Given the description of an element on the screen output the (x, y) to click on. 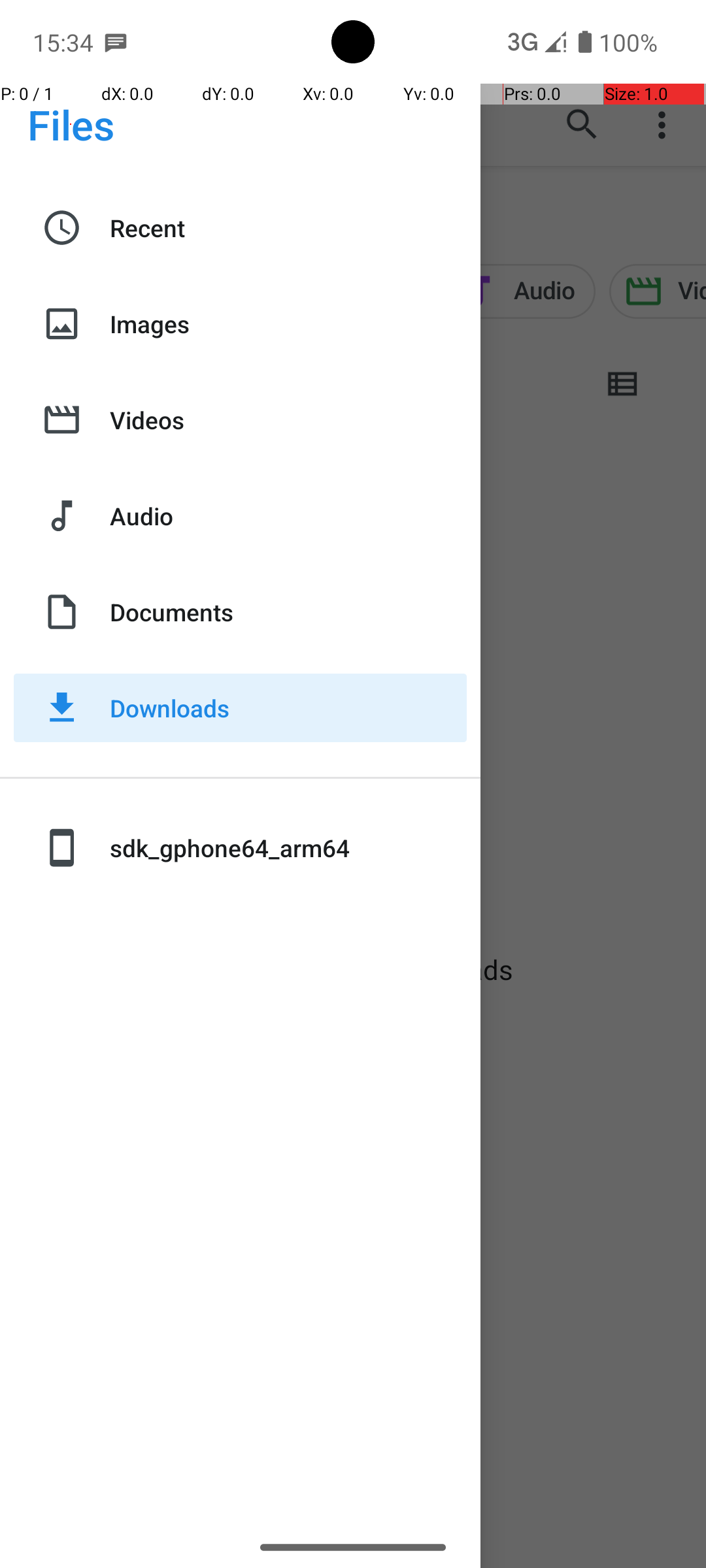
Files Element type: android.widget.TextView (70, 124)
Downloads Element type: android.widget.TextView (287, 707)
sdk_gphone64_arm64 Element type: android.widget.TextView (287, 847)
SMS Messenger notification: +12845986552 Element type: android.widget.ImageView (115, 41)
